Given the description of an element on the screen output the (x, y) to click on. 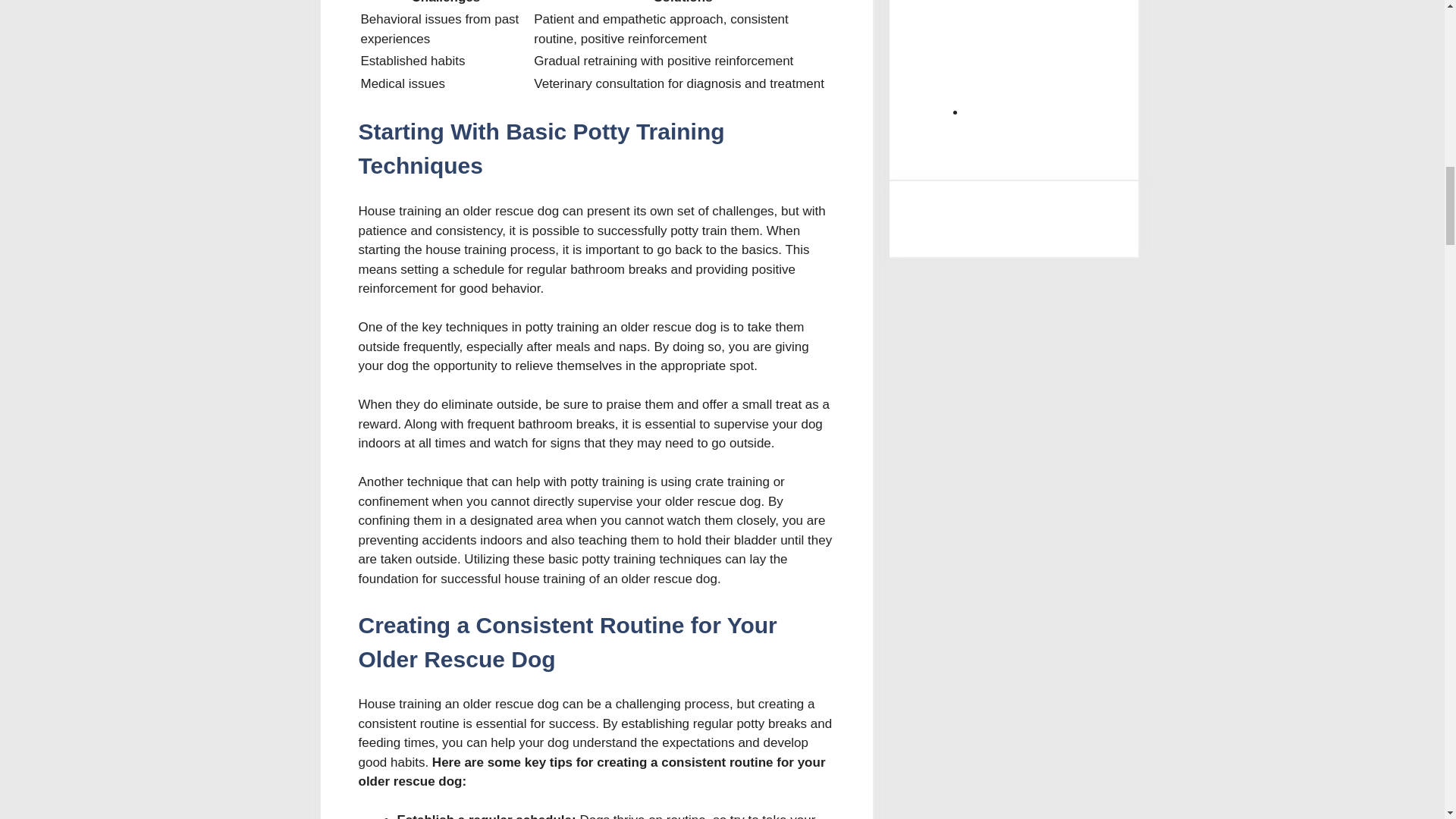
RSS (1079, 60)
